Given the description of an element on the screen output the (x, y) to click on. 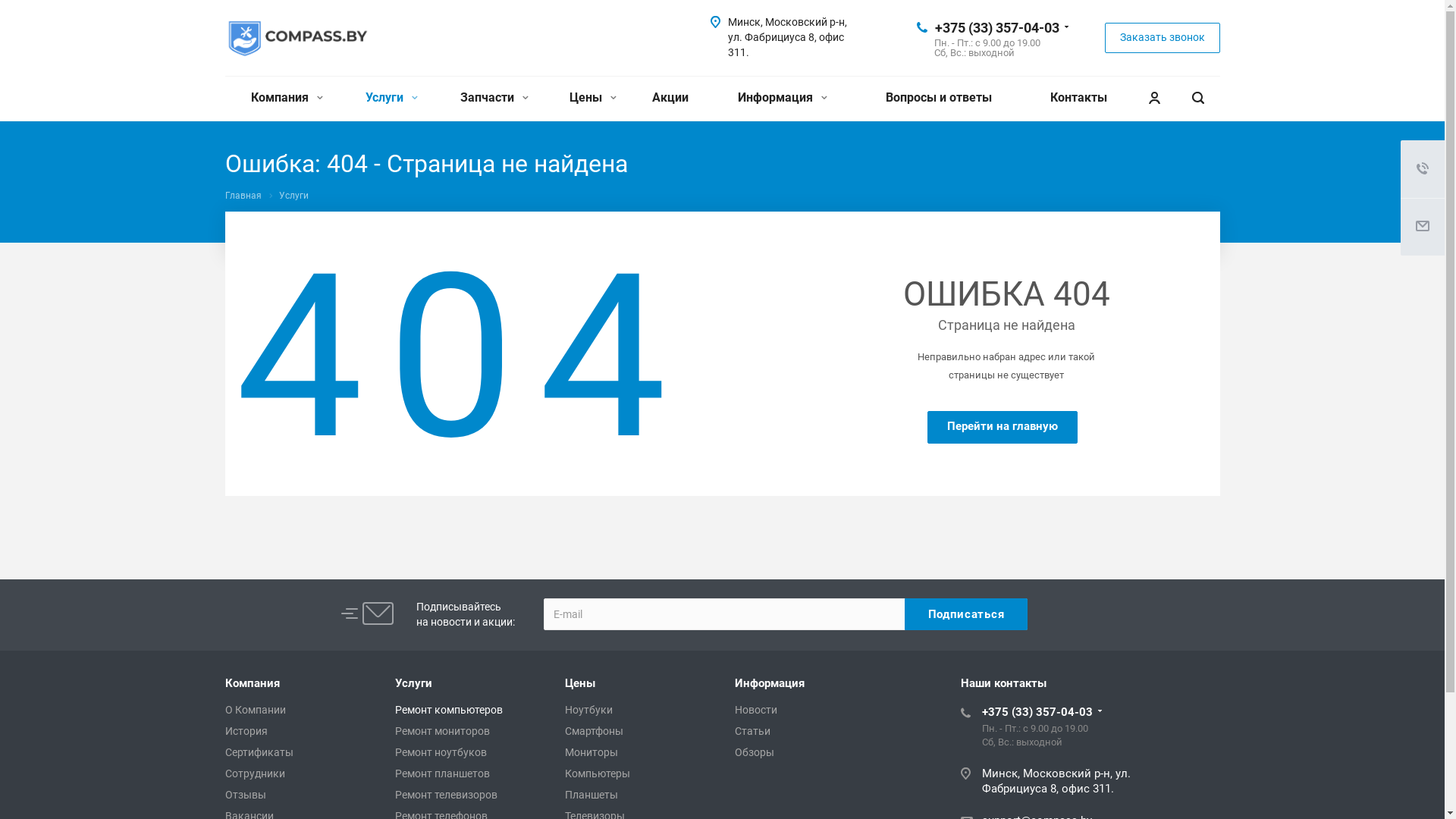
compass.by Element type: hover (297, 38)
+375 (33) 357-04-03 Element type: text (1037, 711)
+375 (33) 357-04-03 Element type: text (996, 27)
